Given the description of an element on the screen output the (x, y) to click on. 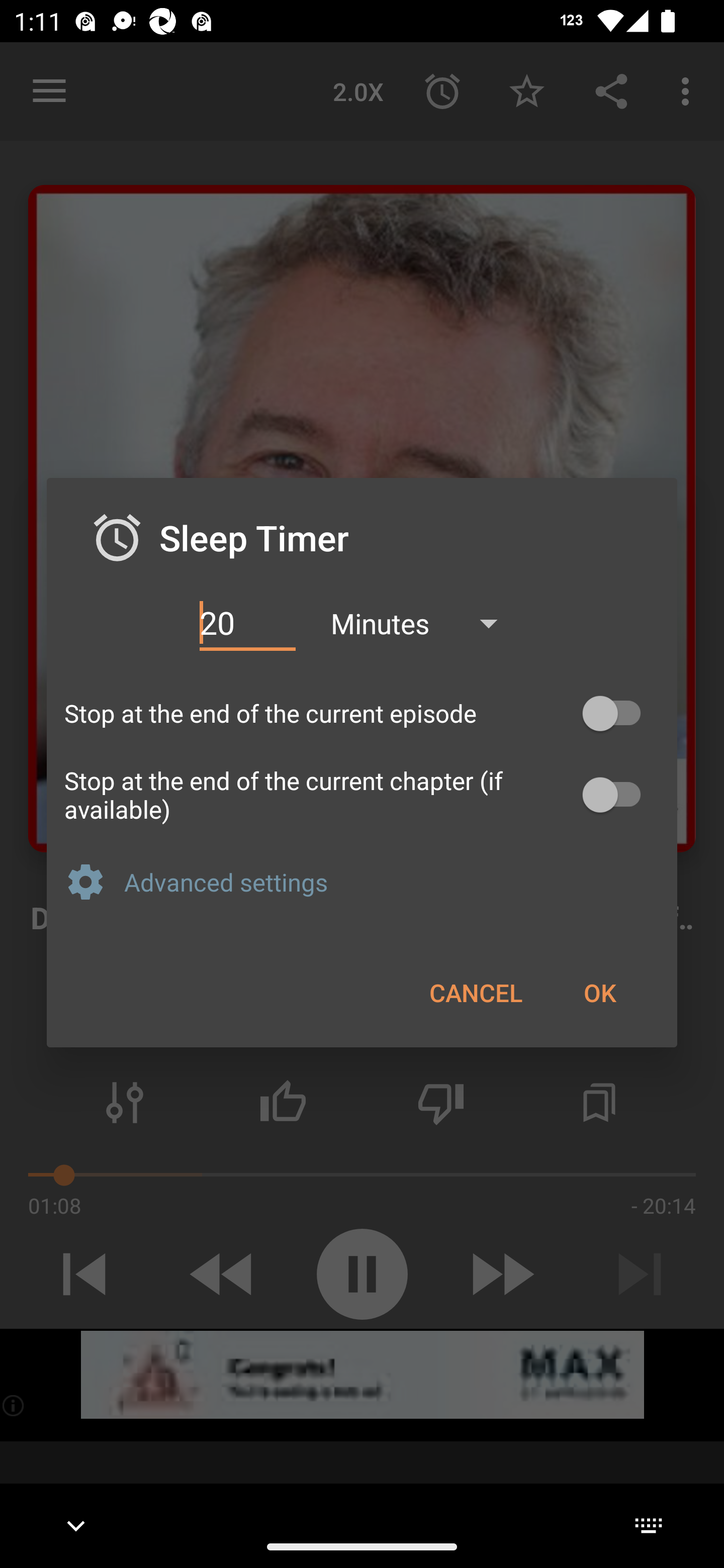
20 (247, 623)
Minutes (423, 623)
Stop at the end of the current episode (361, 712)
Advanced settings (391, 881)
CANCEL (475, 992)
OK (599, 992)
